Given the description of an element on the screen output the (x, y) to click on. 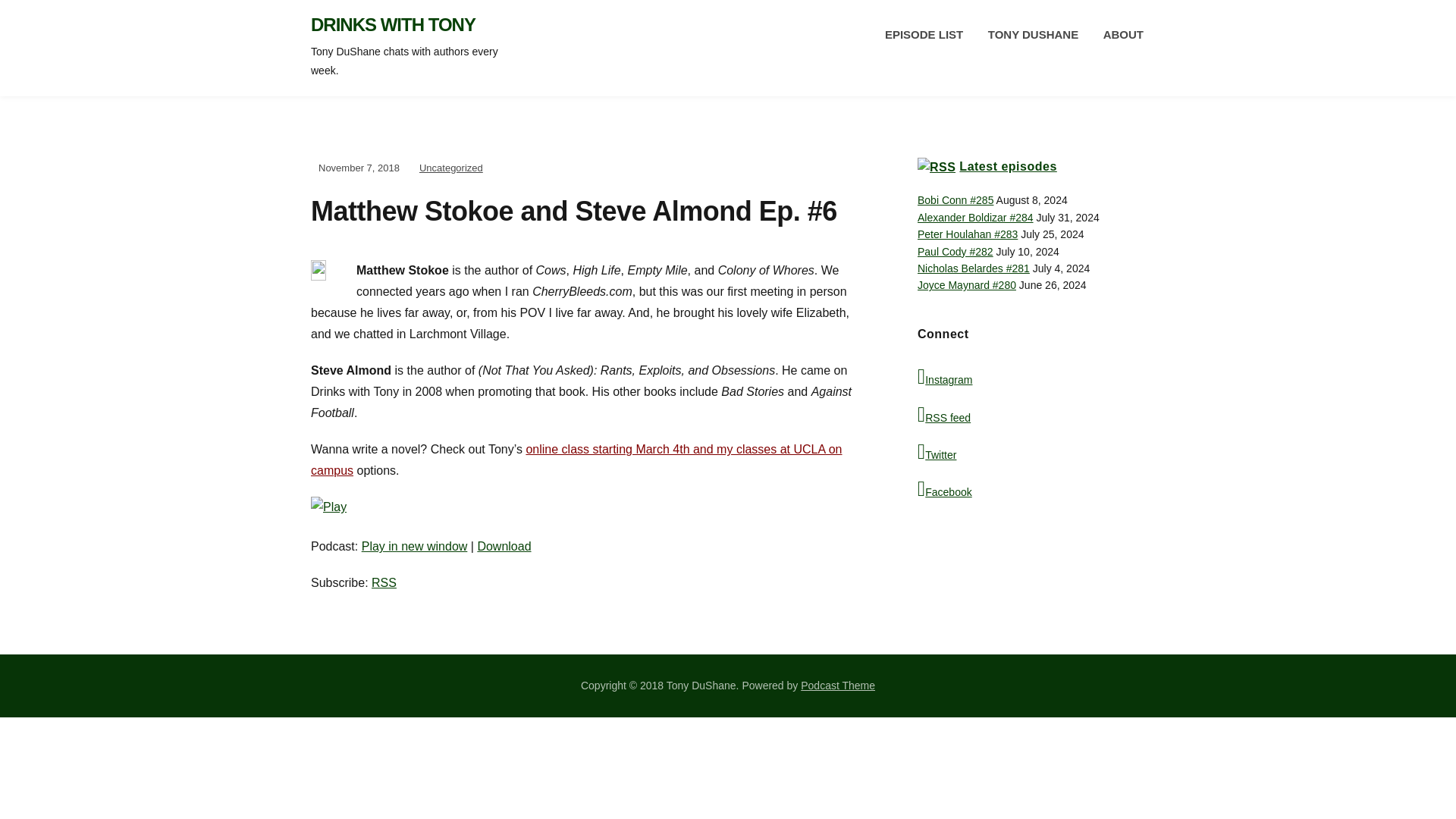
RSS feed (1030, 414)
Subscribe via RSS (383, 582)
Play (328, 514)
Visit Drinks with Tony on Instagram (1030, 377)
Podcast Theme (837, 685)
Uncategorized (451, 167)
RSS (383, 582)
Download (504, 545)
Play (328, 506)
Visit Drinks with Tony on RSS feed (1030, 414)
